Given the description of an element on the screen output the (x, y) to click on. 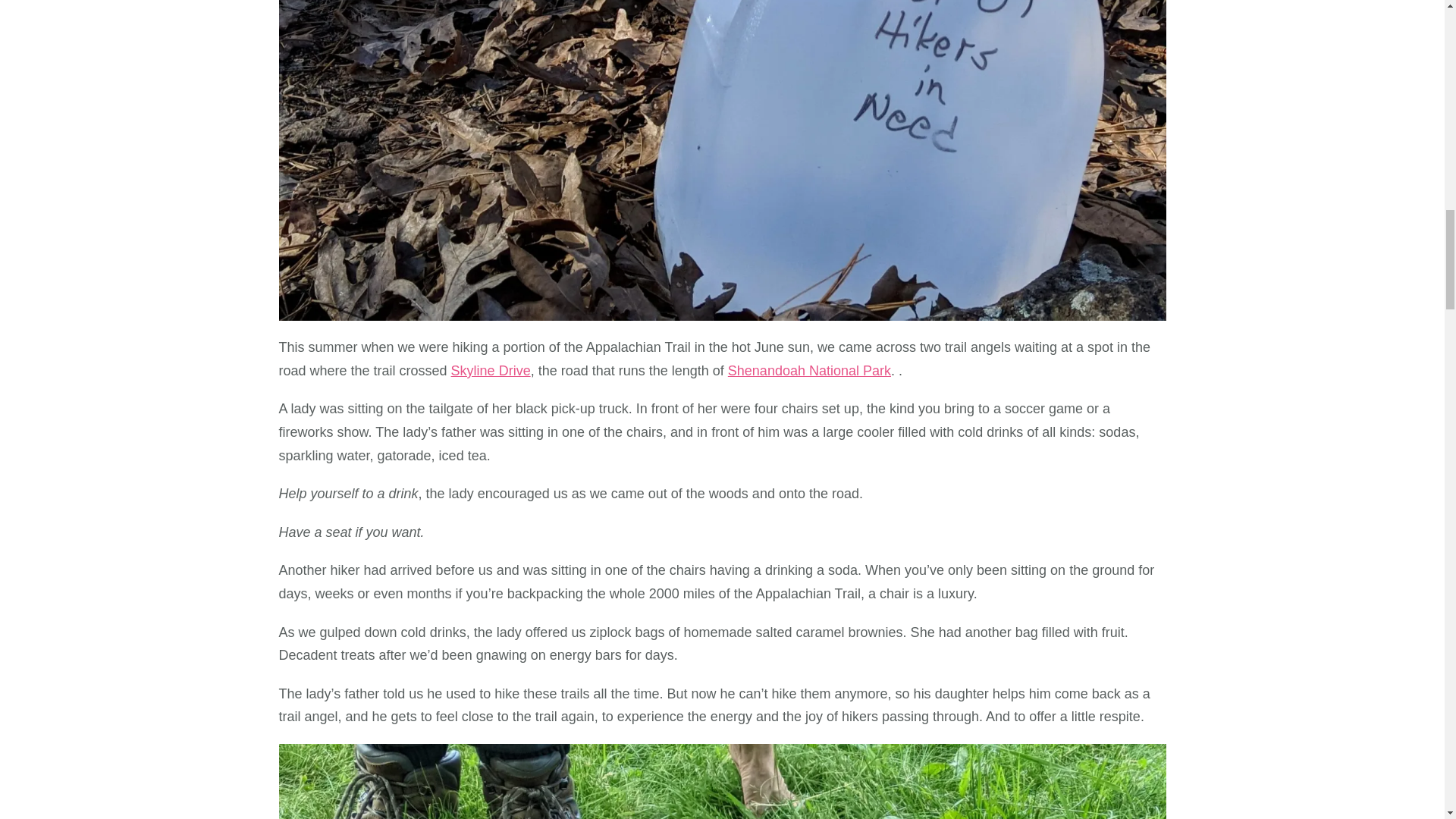
Shenandoah National Park (809, 370)
Skyline Drive (491, 370)
